Given the description of an element on the screen output the (x, y) to click on. 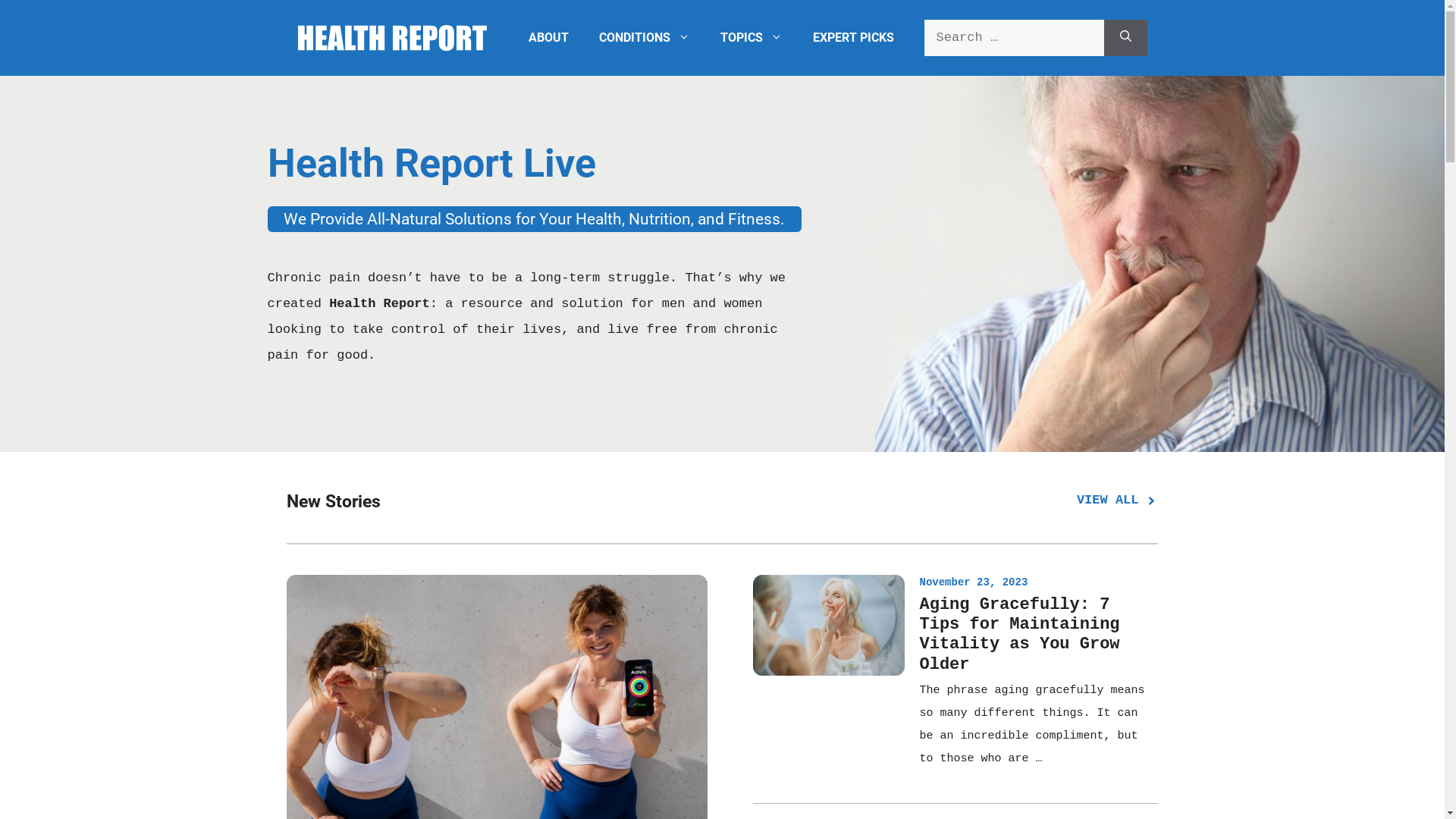
EXPERT PICKS Element type: text (853, 37)
VIEW ALL Element type: text (1116, 500)
Health Report Element type: hover (391, 37)
CONDITIONS Element type: text (644, 37)
Health Report Element type: hover (391, 38)
TOPICS Element type: text (751, 37)
ABOUT Element type: text (547, 37)
Search for: Element type: hover (1013, 37)
